Given the description of an element on the screen output the (x, y) to click on. 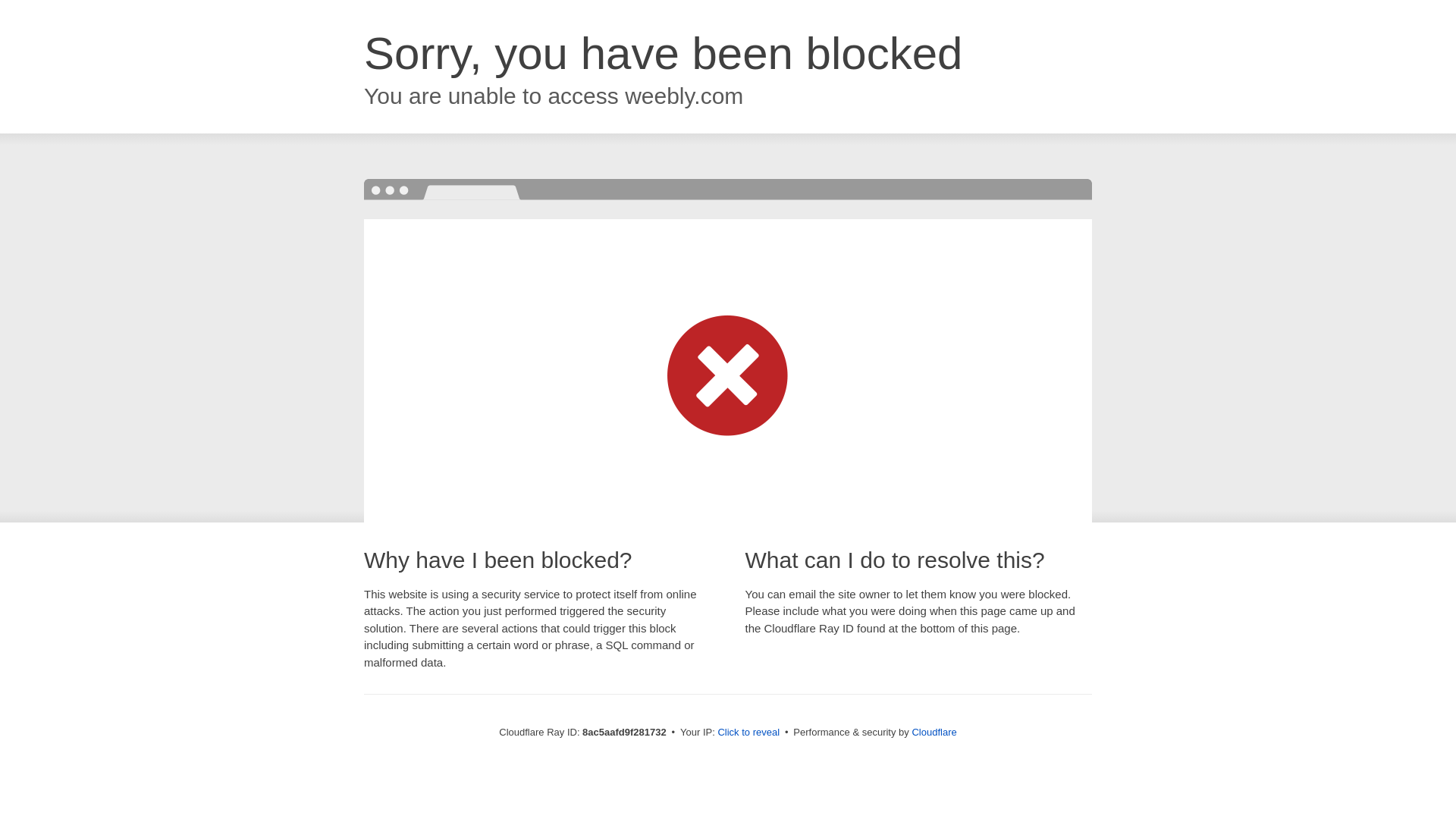
Click to reveal (747, 732)
Cloudflare (933, 731)
